Given the description of an element on the screen output the (x, y) to click on. 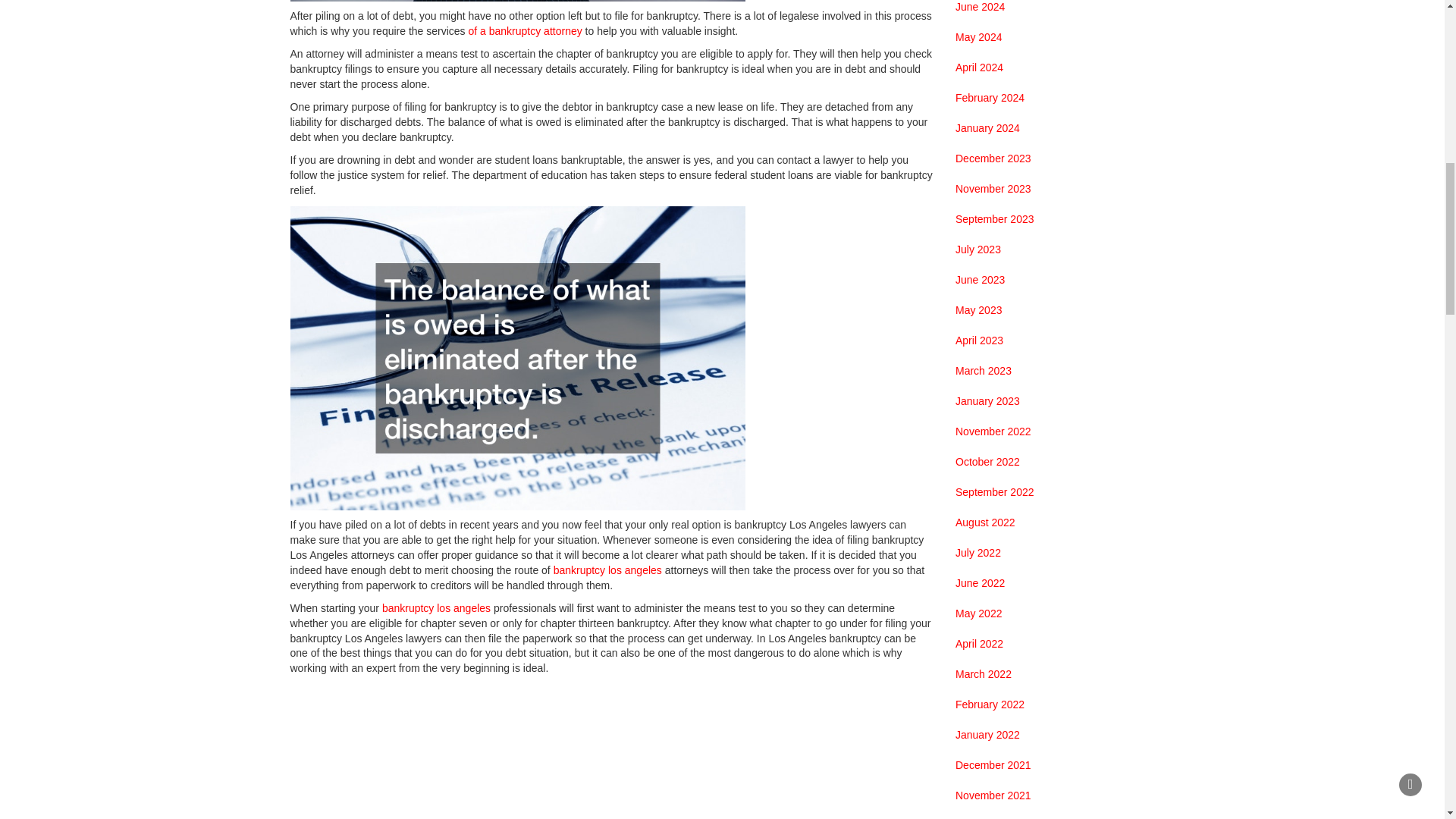
April 2023 (979, 340)
April 2022 (979, 644)
March 2022 (983, 674)
April 2024 (979, 68)
December 2023 (992, 159)
July 2023 (978, 249)
January 2023 (987, 401)
June 2023 (979, 280)
June 2022 (979, 583)
More information related to Los angeles bankruptcy lawyer (607, 570)
